Given the description of an element on the screen output the (x, y) to click on. 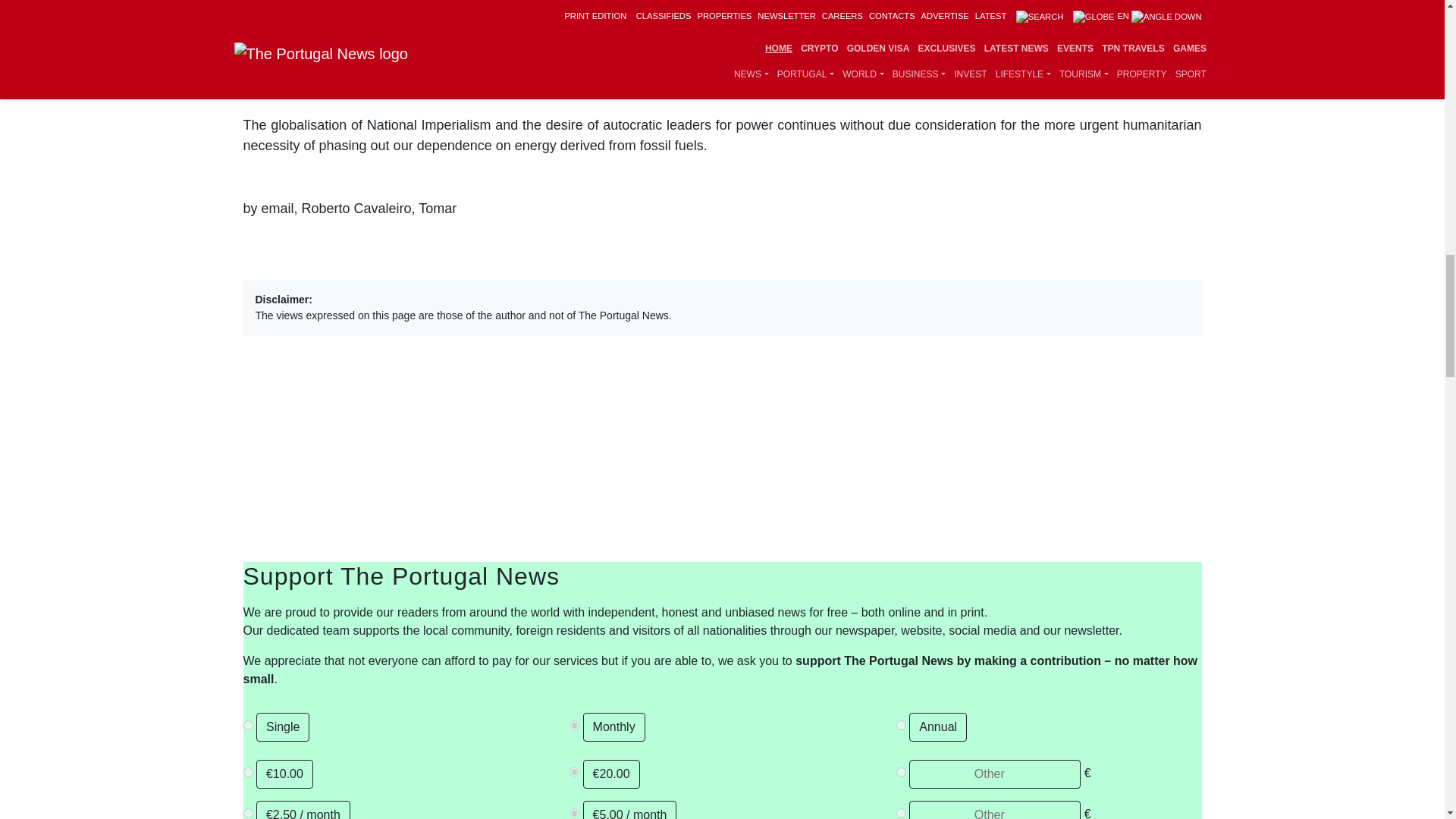
P-18662245734186221MGVD6SI (900, 725)
single (247, 725)
5 (574, 813)
2.5 (247, 813)
10 (247, 772)
20 (574, 772)
P-6T2758016F920900CMGGQYMQ (574, 725)
